Given the description of an element on the screen output the (x, y) to click on. 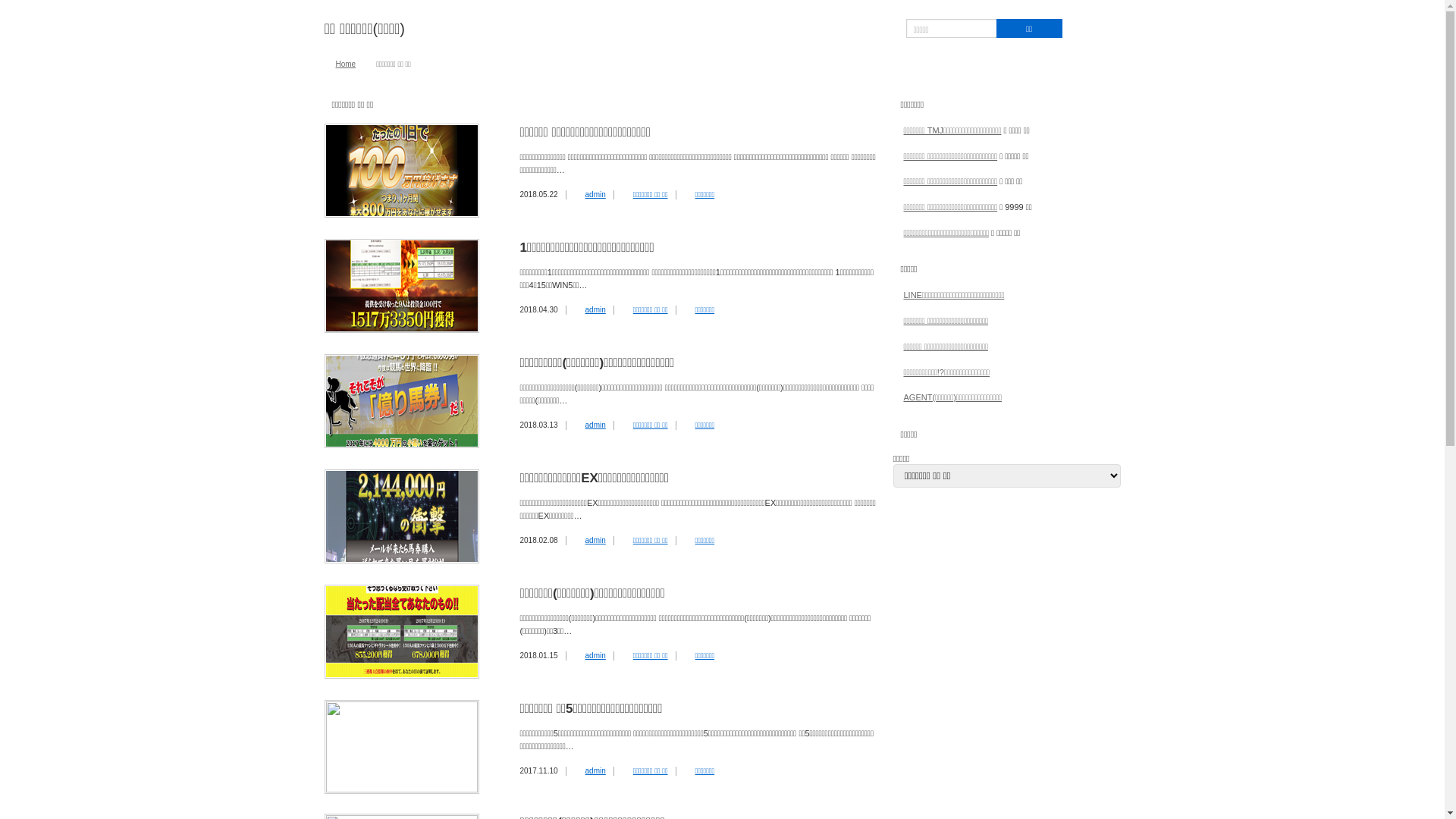
admin Element type: text (595, 194)
admin Element type: text (595, 655)
admin Element type: text (595, 770)
admin Element type: text (595, 540)
Home Element type: text (345, 63)
admin Element type: text (595, 424)
rss Element type: text (1093, 27)
admin Element type: text (595, 309)
